Given the description of an element on the screen output the (x, y) to click on. 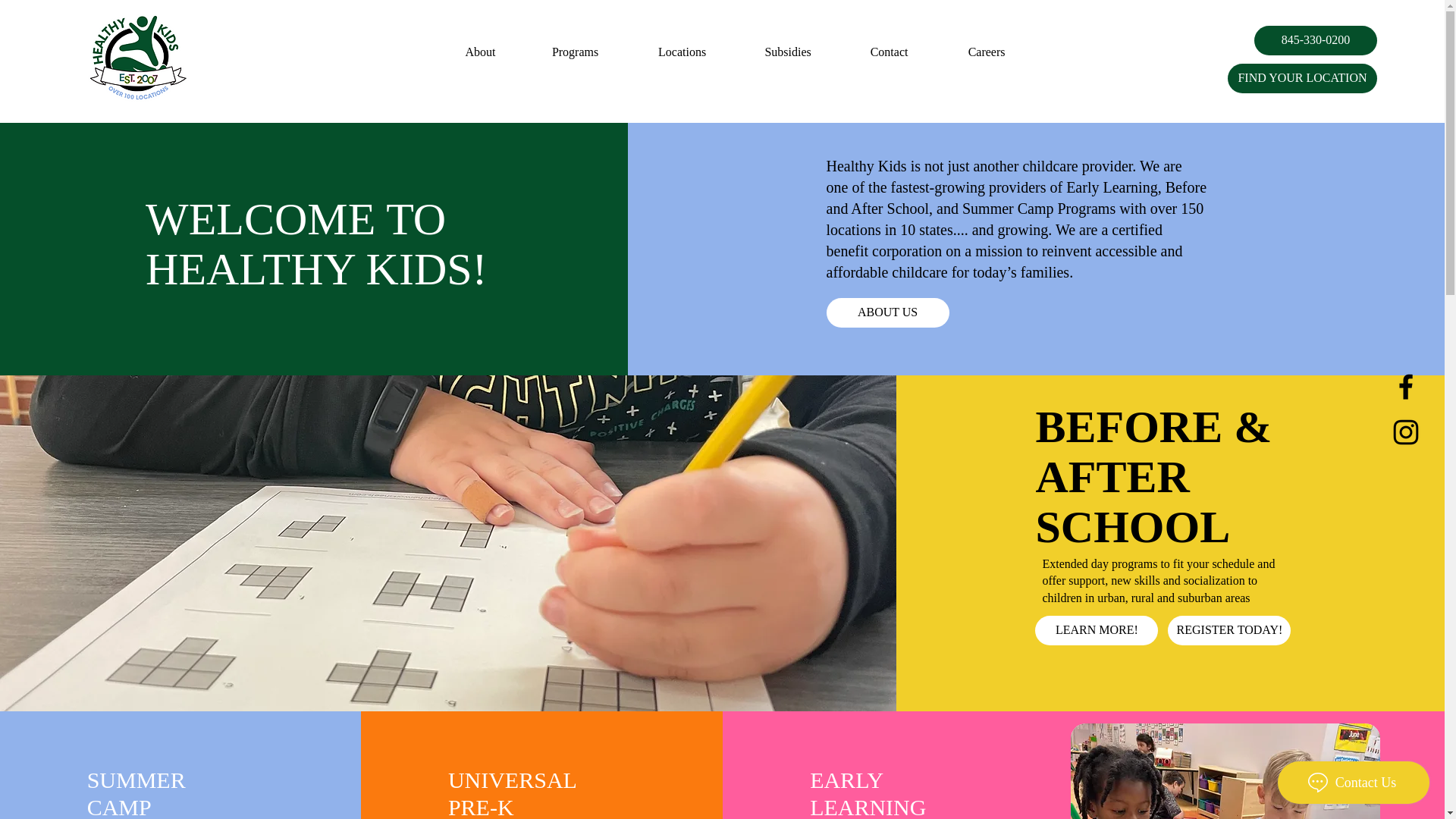
FIND YOUR LOCATION (1302, 78)
Locations (682, 51)
Contact (889, 51)
ABOUT US (888, 312)
About (480, 51)
845-330-0200 (1315, 40)
Careers (987, 51)
LEARN MORE! (1096, 630)
Subsidies (788, 51)
REGISTER TODAY! (1228, 630)
